Given the description of an element on the screen output the (x, y) to click on. 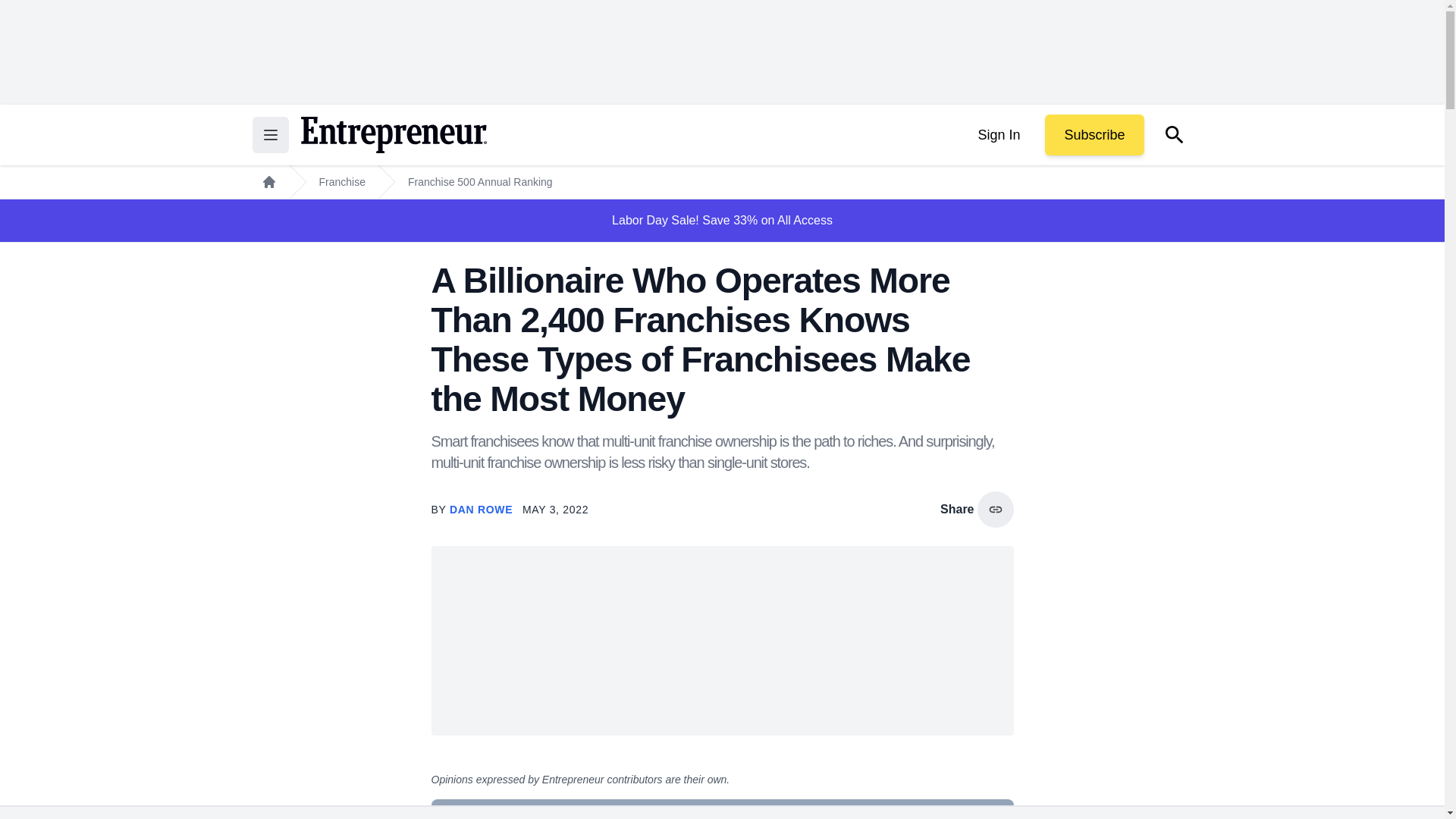
Sign In (998, 134)
copy (994, 509)
Return to the home page (392, 135)
Subscribe (1093, 134)
